Given the description of an element on the screen output the (x, y) to click on. 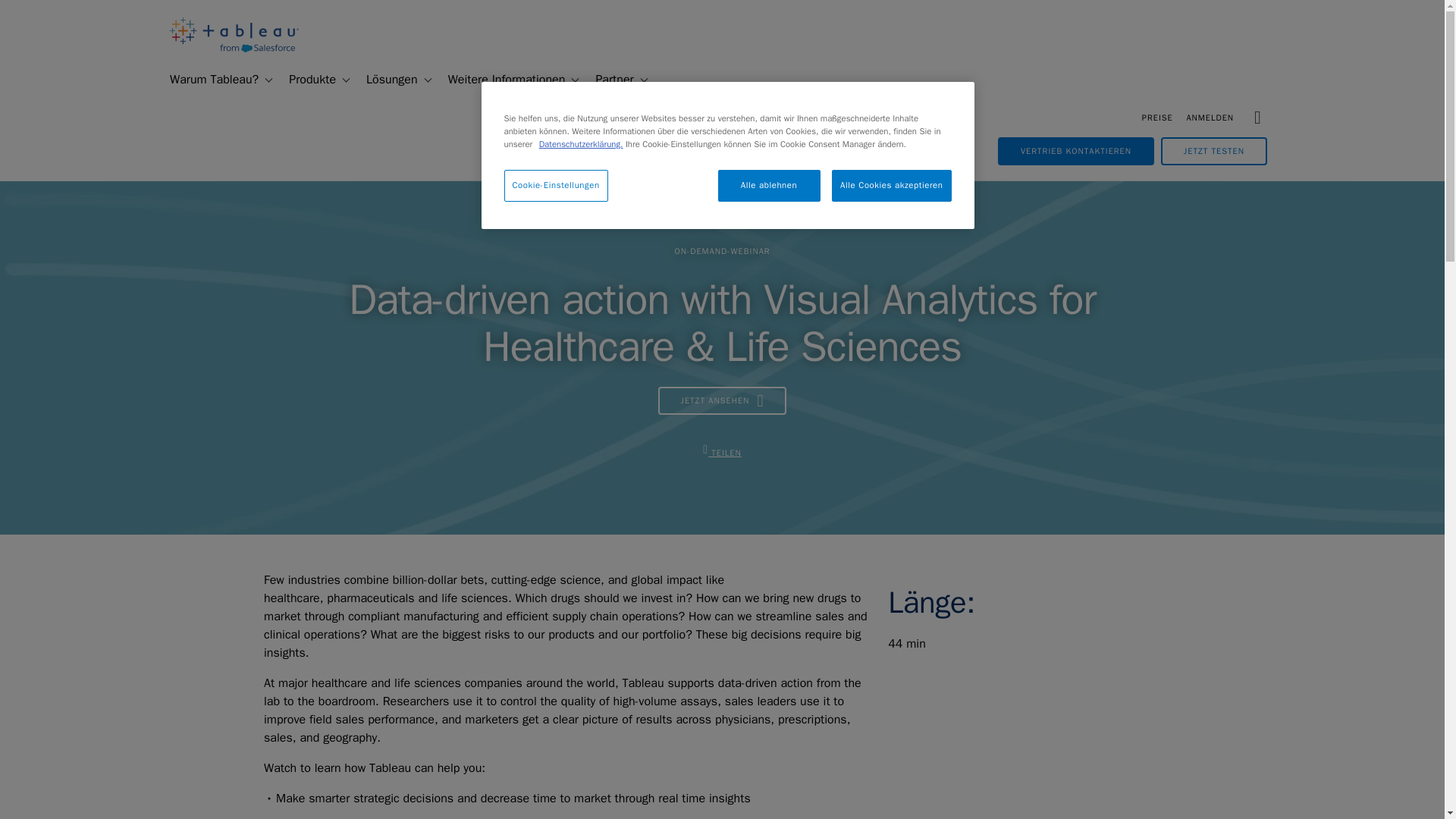
Produkte (306, 79)
Warum Tableau? (208, 79)
